Given the description of an element on the screen output the (x, y) to click on. 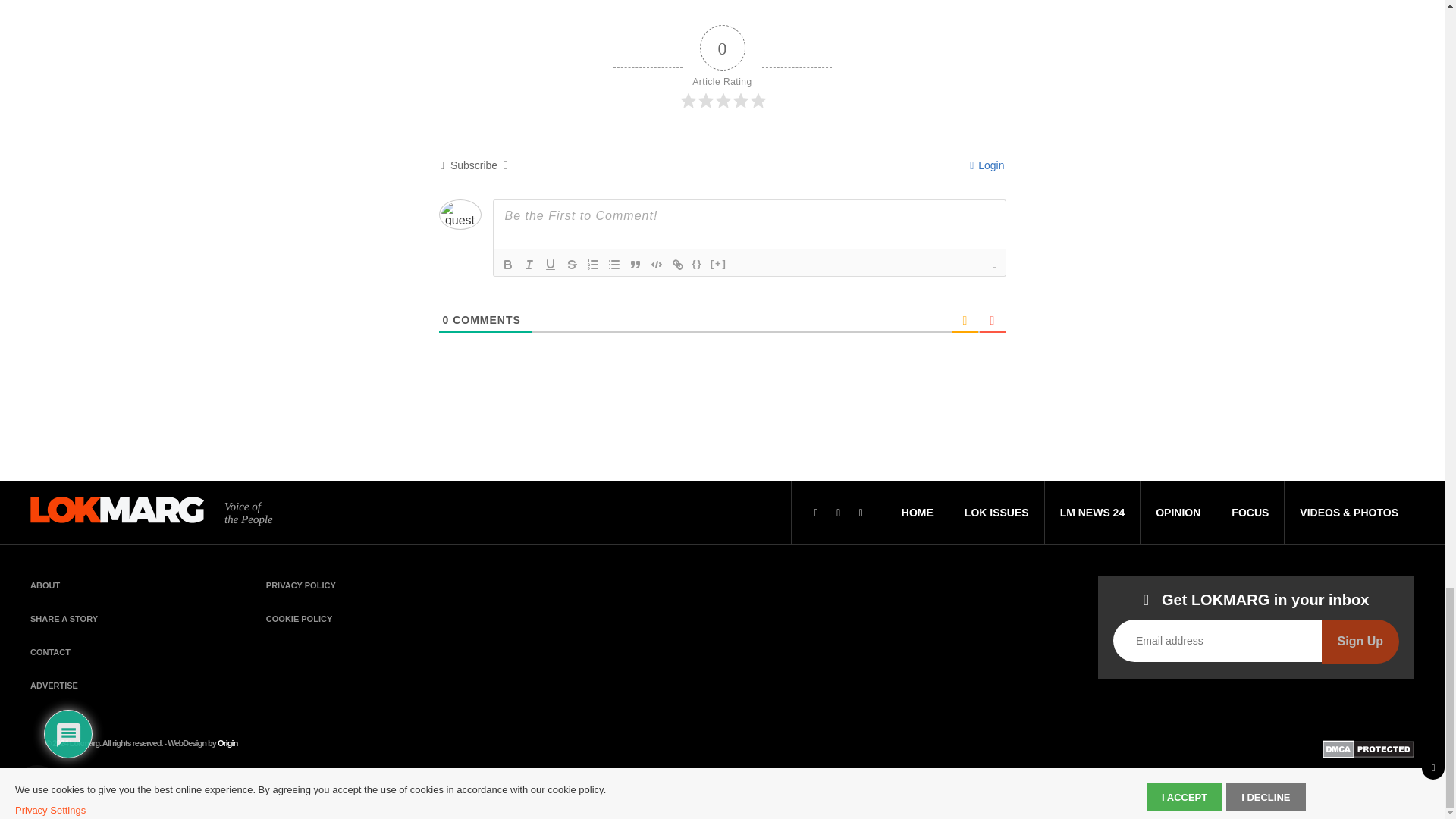
Login (986, 164)
Sign Up (1360, 641)
